Given the description of an element on the screen output the (x, y) to click on. 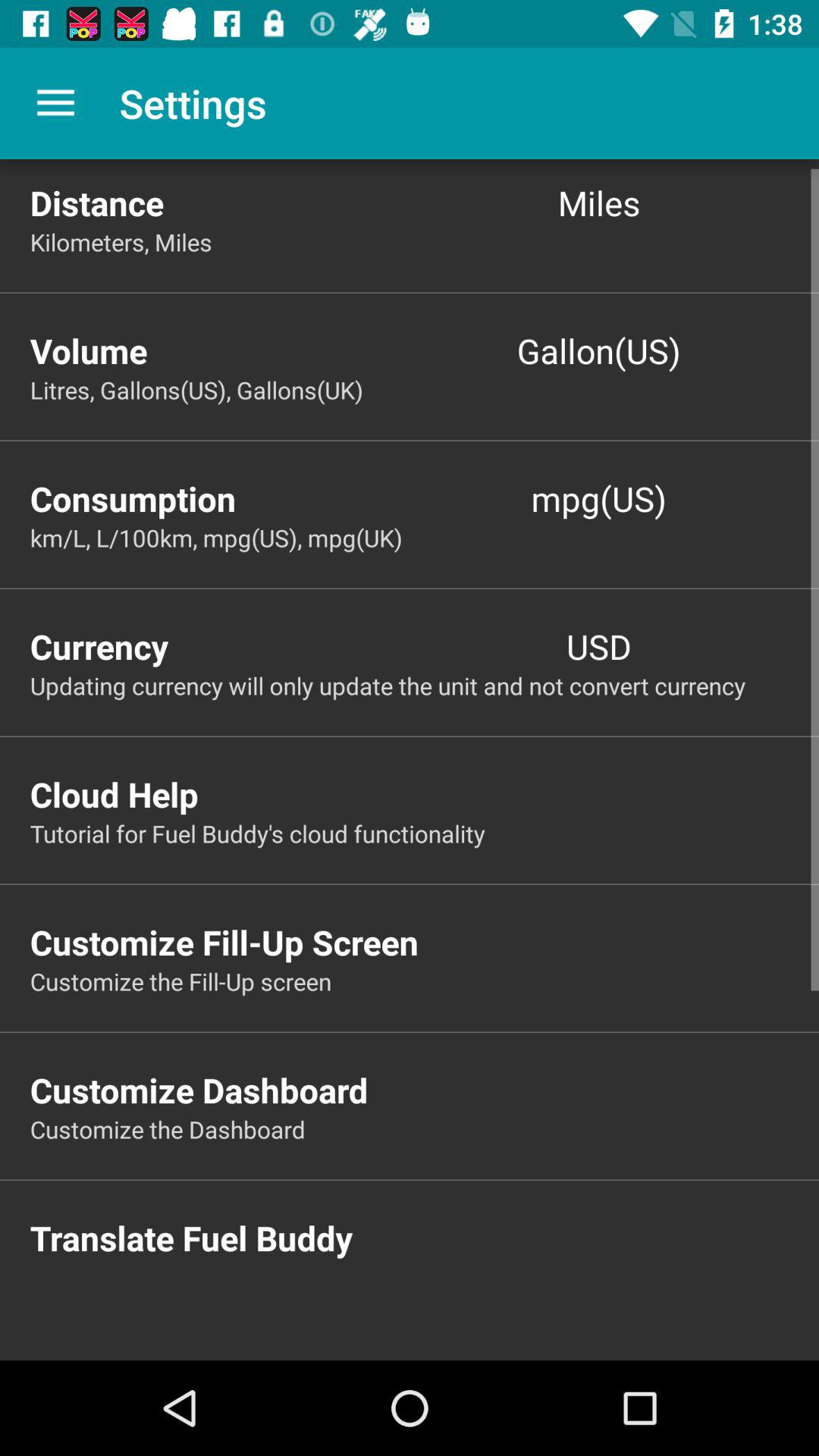
tap volume item (219, 350)
